Given the description of an element on the screen output the (x, y) to click on. 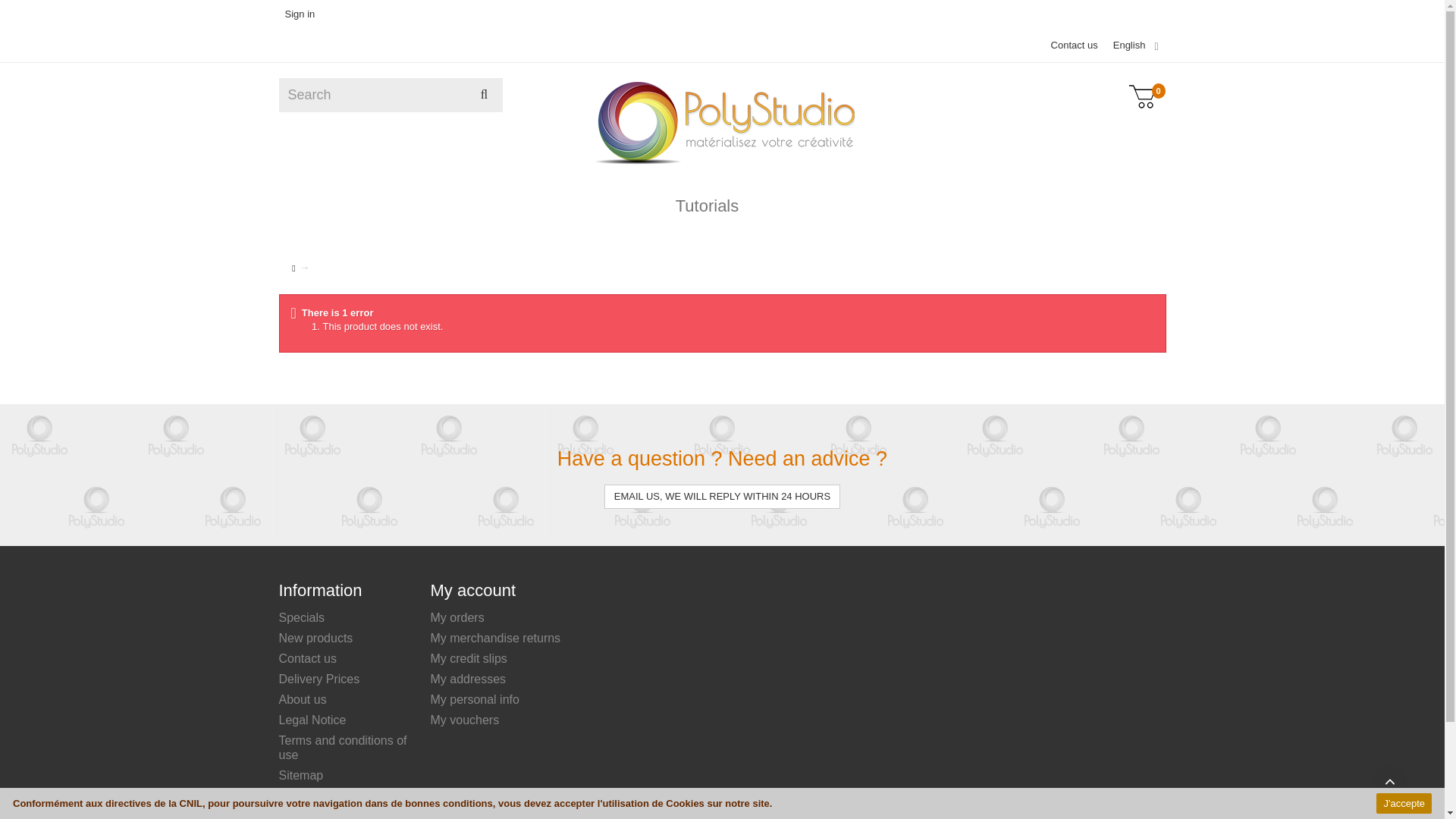
PolyStudio (720, 124)
Legal Notice (312, 719)
Sitemap (301, 775)
My credit slips (468, 658)
Return to Home (293, 268)
View my shopping cart (1141, 100)
EMAIL US, WE WILL REPLY WITHIN 24 HOURS (722, 496)
New products (316, 637)
Delivery Prices (319, 678)
Terms and conditions of use (343, 747)
Contact us (307, 658)
Legal Notice (312, 719)
Tutorials (722, 208)
Specials (301, 617)
About us (302, 698)
